Given the description of an element on the screen output the (x, y) to click on. 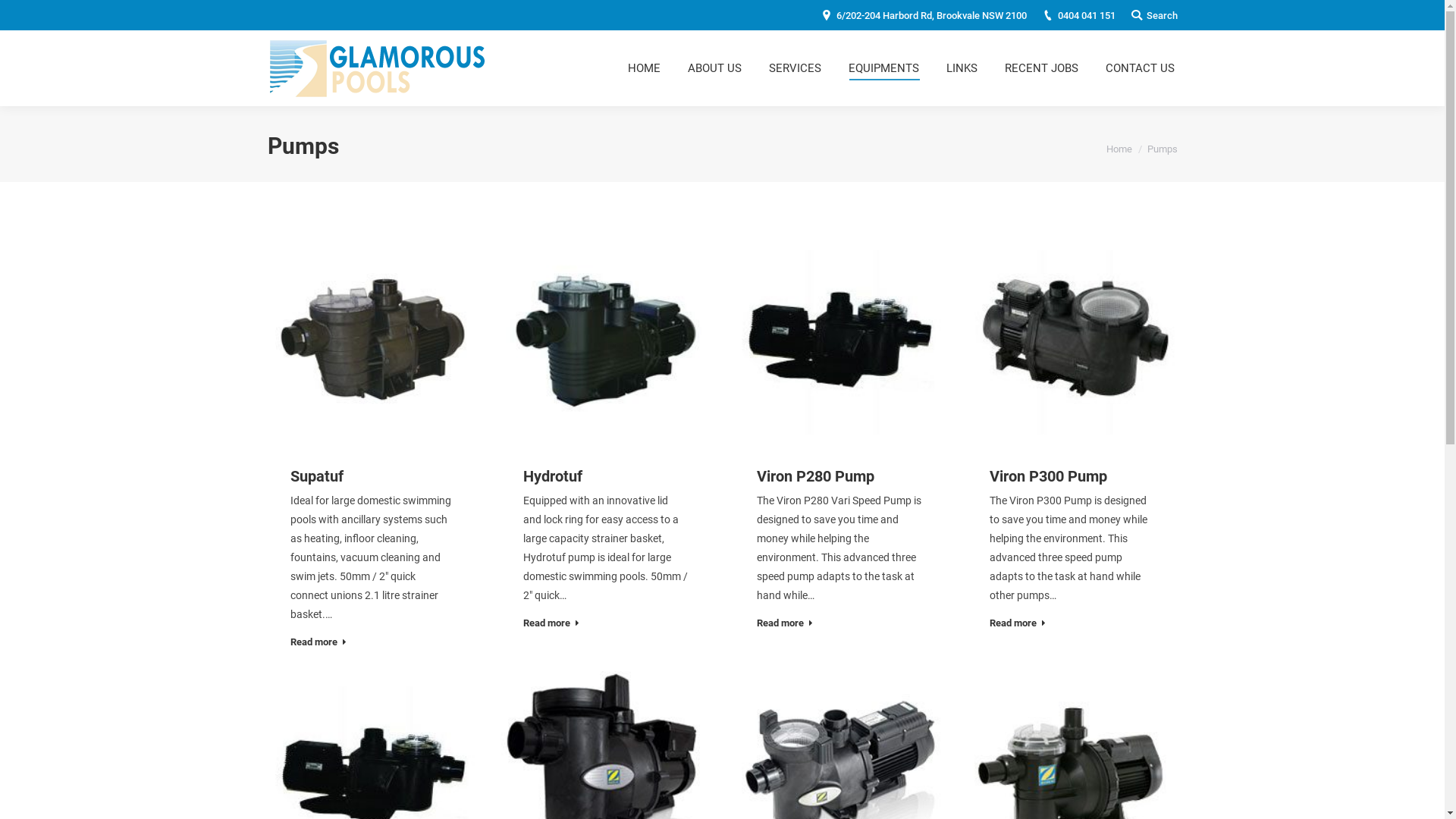
ABOUT US Element type: text (713, 67)
P300e Element type: hover (1071, 340)
EQUIPMENTS Element type: text (882, 67)
SERVICES Element type: text (794, 67)
HOME Element type: text (643, 67)
Read more Element type: text (317, 644)
Viron P280 Pump Element type: text (815, 475)
Hydrotuf_e Element type: hover (605, 340)
Viron P300 Pump Element type: text (1048, 475)
Go! Element type: text (21, 14)
Search Element type: text (1152, 14)
Supatuf_e Element type: hover (371, 340)
CONTACT US Element type: text (1139, 67)
LINKS Element type: text (961, 67)
Read more Element type: text (1017, 624)
Read more Element type: text (784, 624)
Supatuf Element type: text (315, 475)
Hydrotuf Element type: text (552, 475)
Home Element type: text (1118, 148)
Read more Element type: text (551, 624)
RECENT JOBS Element type: text (1040, 67)
